Given the description of an element on the screen output the (x, y) to click on. 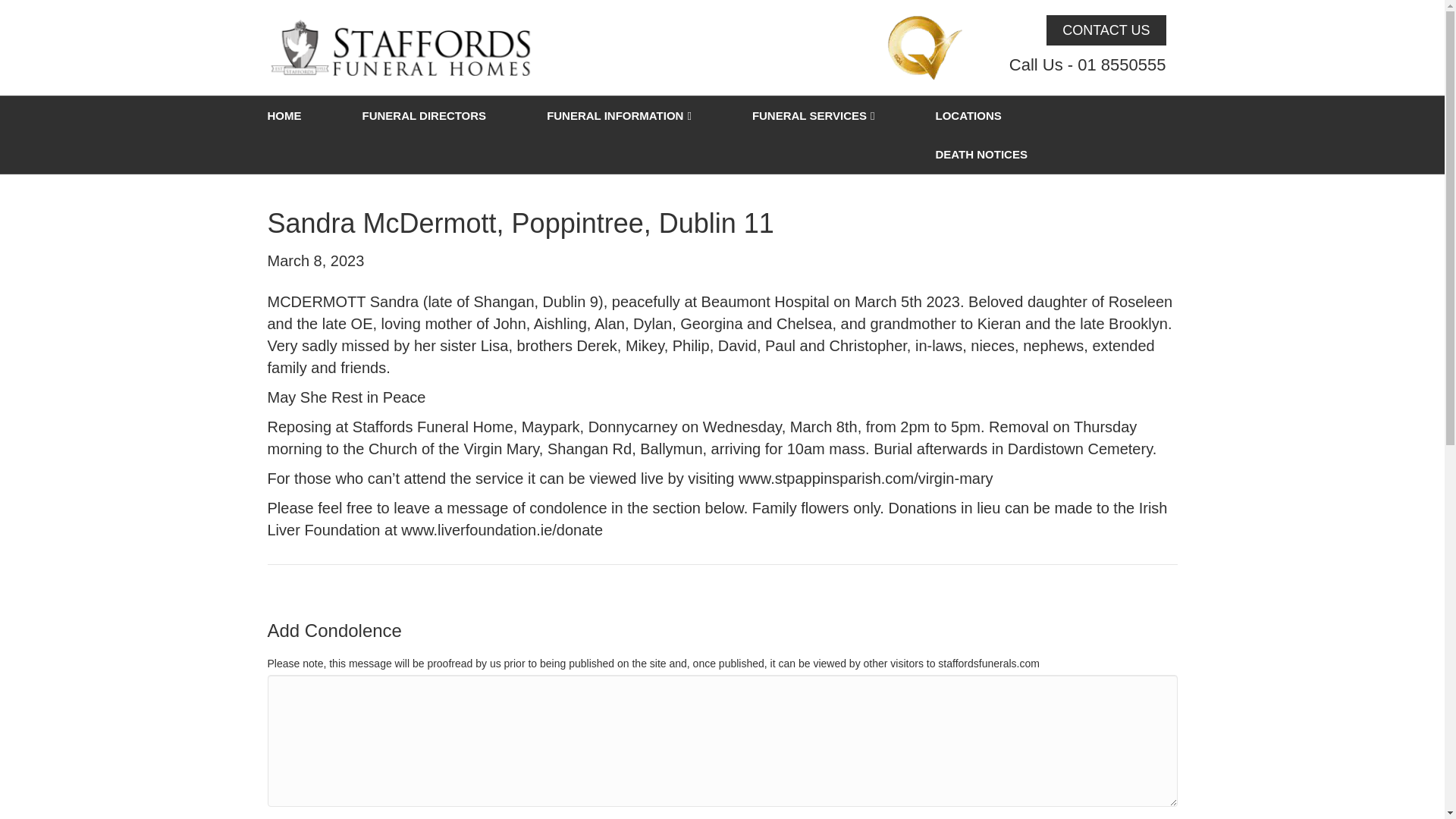
CONTACT US (1106, 30)
FUNERAL DIRECTORS (423, 115)
HOME (298, 115)
Call Us - 01 8550555 (1087, 64)
FUNERAL INFORMATION (619, 116)
